Given the description of an element on the screen output the (x, y) to click on. 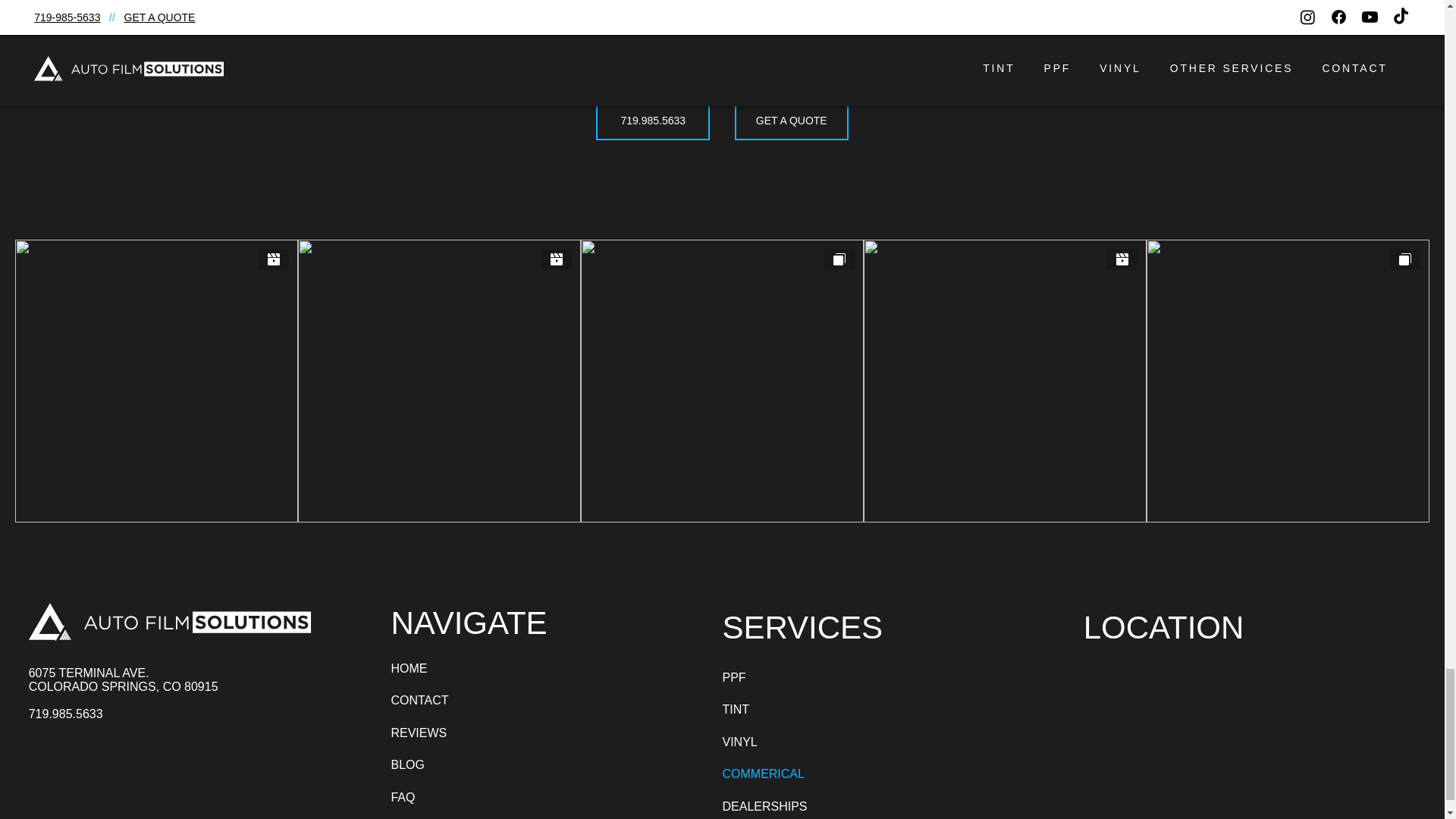
REVIEWS (464, 733)
719.985.5633 (652, 121)
PPF (796, 677)
FAQ (464, 798)
BLOG (464, 765)
HOME (464, 668)
GET A QUOTE (791, 121)
TINT (796, 709)
CONTACT (464, 700)
DEALERSHIPS (796, 805)
